Given the description of an element on the screen output the (x, y) to click on. 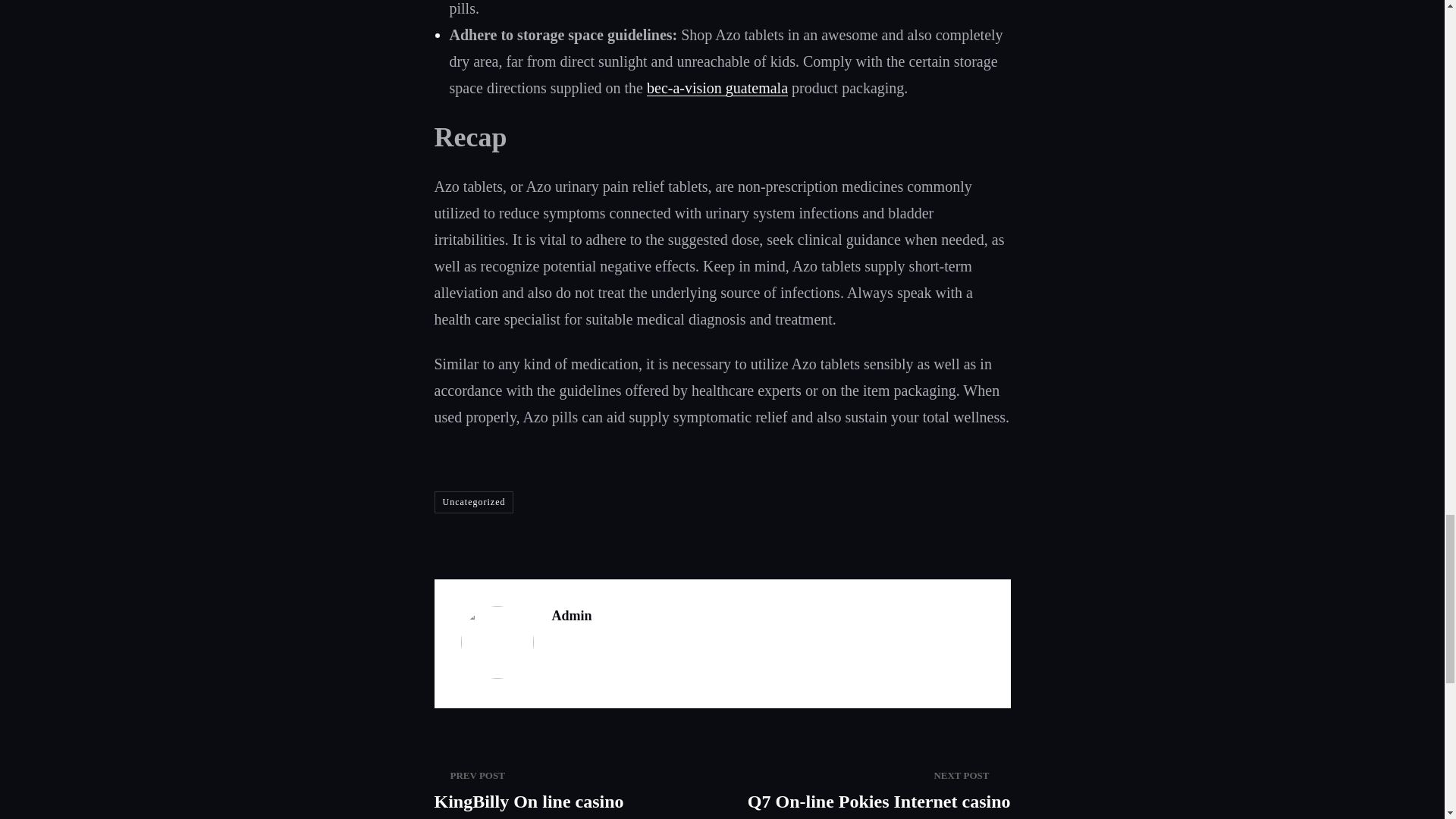
Uncategorized (473, 502)
bec-a-vision guatemala (569, 789)
